Given the description of an element on the screen output the (x, y) to click on. 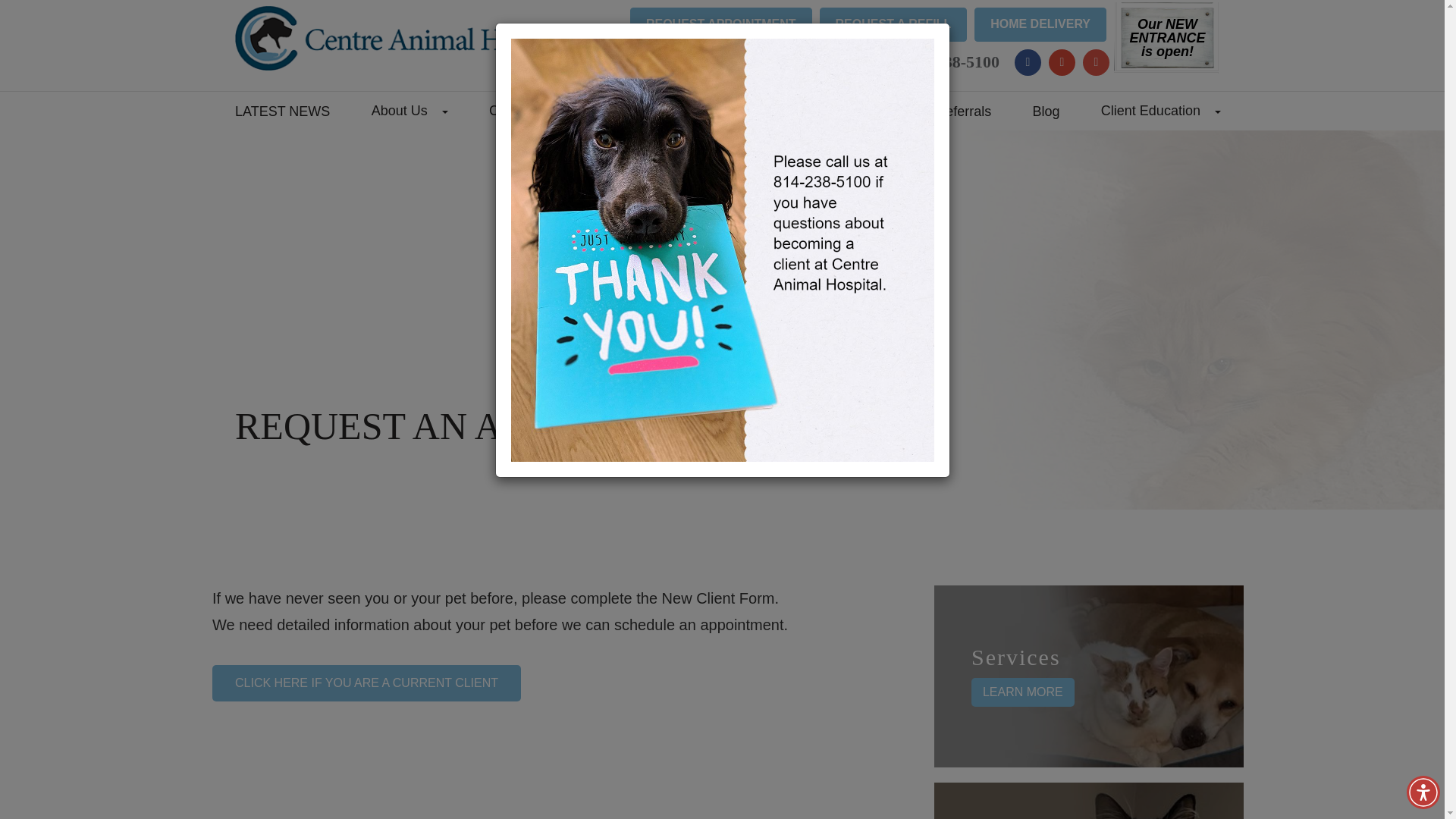
Accessibility Menu (1422, 792)
